Given the description of an element on the screen output the (x, y) to click on. 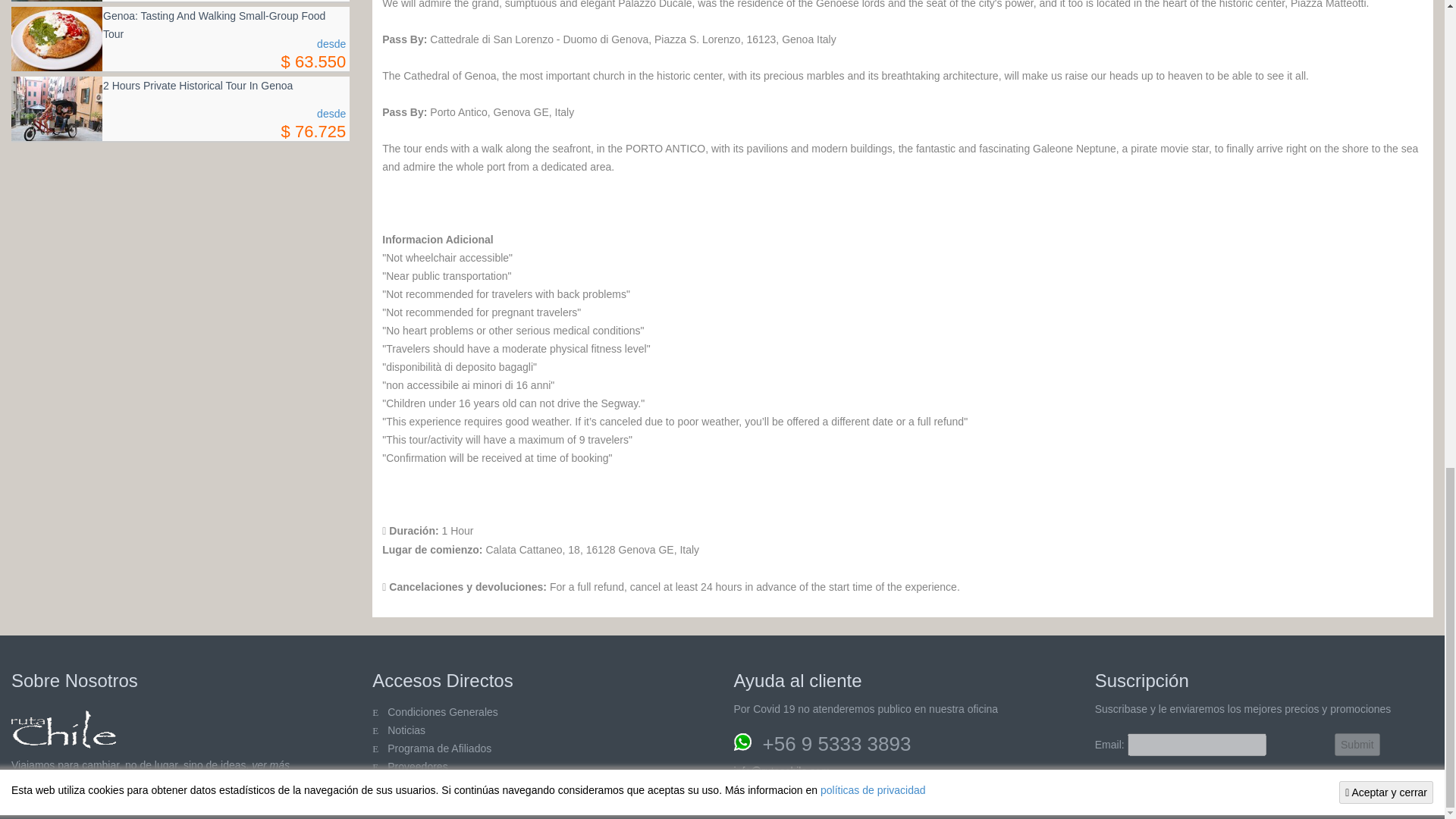
Quick Links (416, 766)
Twitter (27, 801)
Quick Links (406, 729)
Quick Links (442, 711)
Youtube (116, 801)
Pinterest (87, 801)
Submit (1357, 744)
Programa de Afiliados (439, 748)
Facebook (57, 801)
Quick Links (406, 784)
Instagram (145, 801)
